Given the description of an element on the screen output the (x, y) to click on. 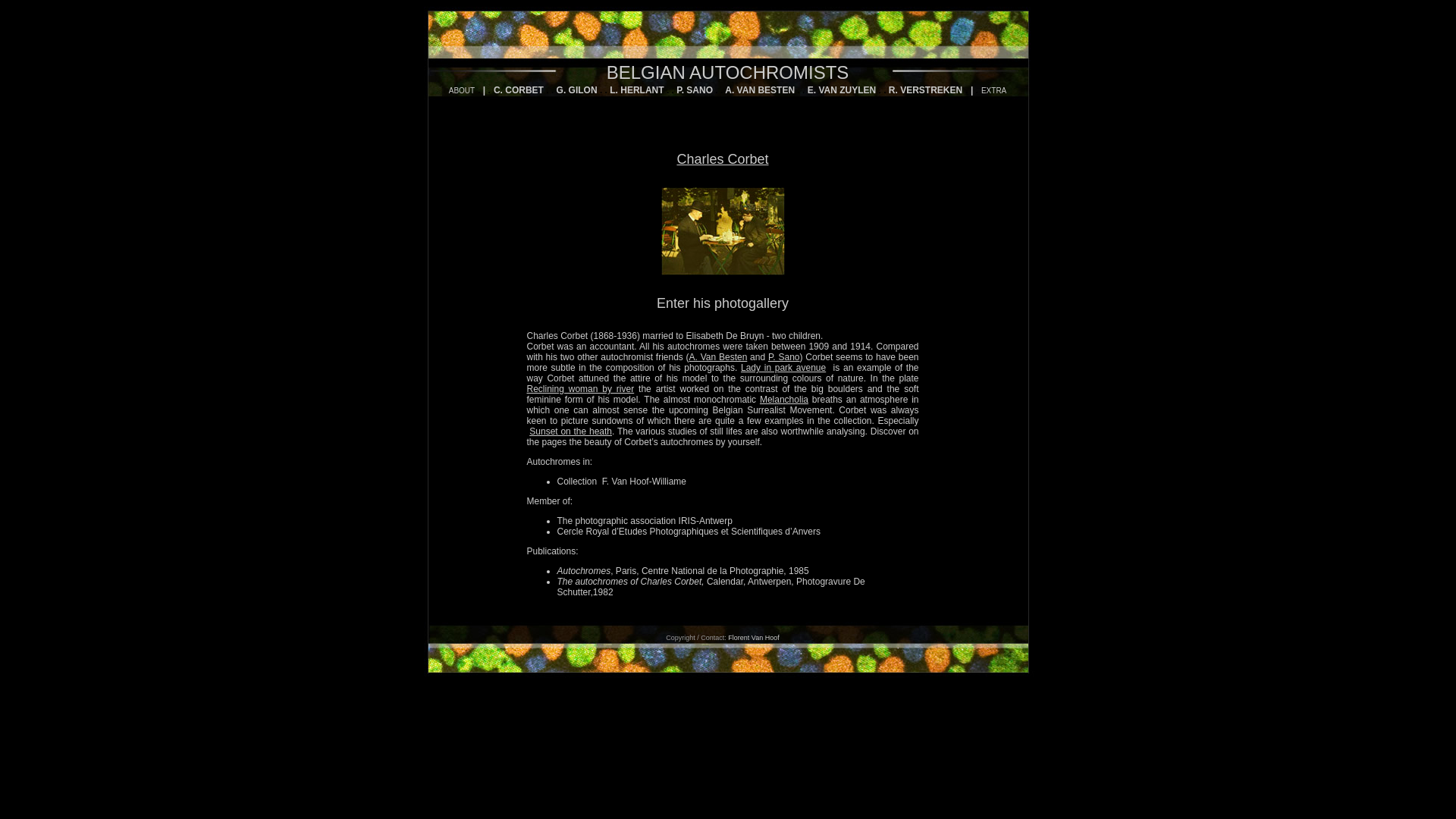
Reclining woman by river Element type: text (579, 388)
Enter his photogallery Element type: text (722, 302)
EXTRA Element type: text (993, 90)
P. Sano Element type: text (784, 356)
Sunset on the heath Element type: text (570, 431)
A. VAN BESTEN Element type: text (759, 89)
Melancholia Element type: text (783, 399)
C. CORBET Element type: text (518, 89)
G. GILON Element type: text (576, 89)
Lady in park avenue Element type: text (782, 367)
A. Van Besten Element type: text (718, 356)
Florent Van Hoof Element type: text (753, 637)
ABOUT Element type: text (461, 87)
P. SANO Element type: text (694, 89)
L. HERLANT Element type: text (636, 89)
R. VERSTREKEN Element type: text (925, 89)
E. VAN ZUYLEN Element type: text (841, 89)
